Given the description of an element on the screen output the (x, y) to click on. 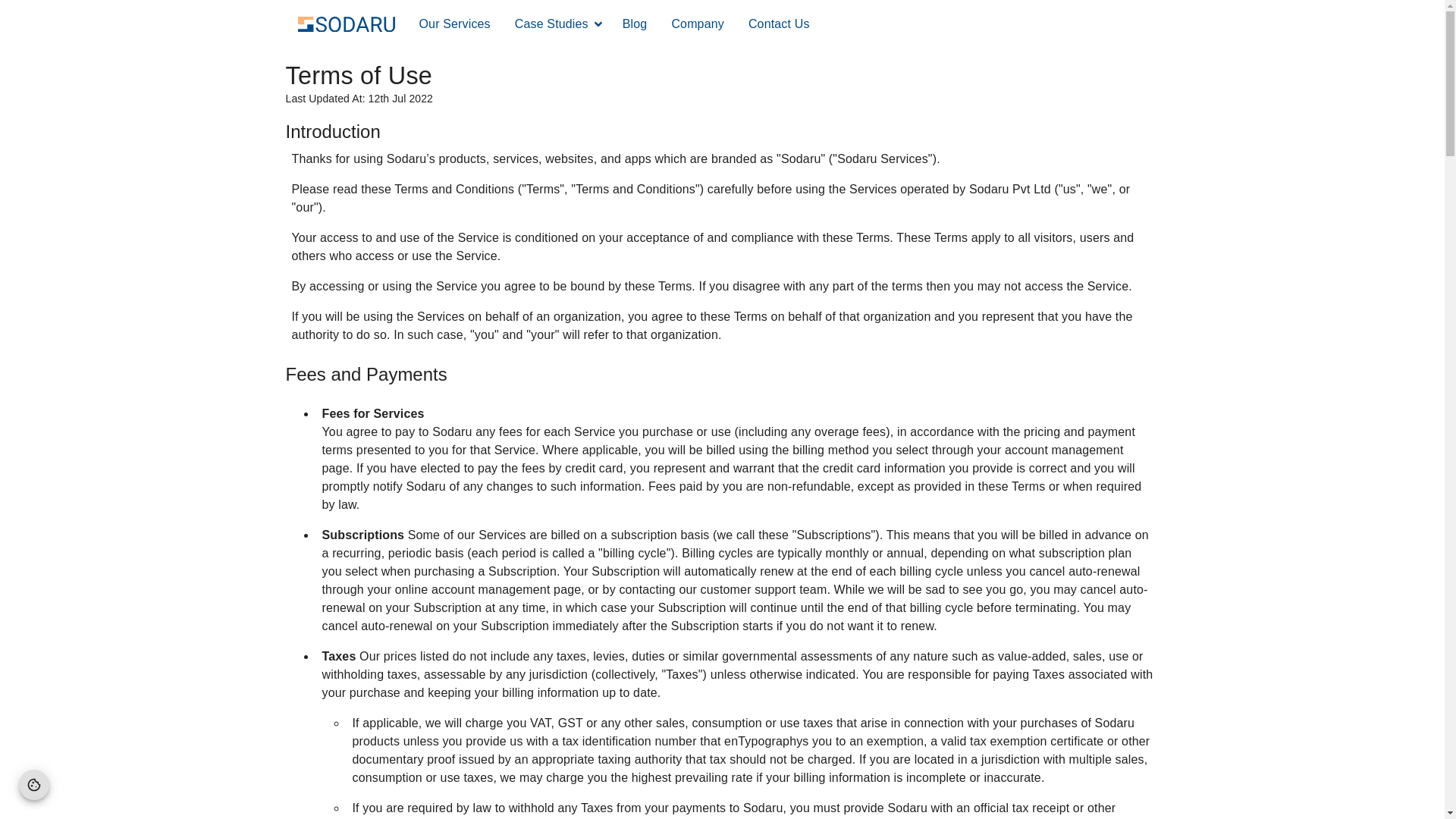
Case Studies (551, 23)
Our Services (454, 23)
Contact Us (778, 23)
Blog (635, 23)
Company (697, 23)
